Given the description of an element on the screen output the (x, y) to click on. 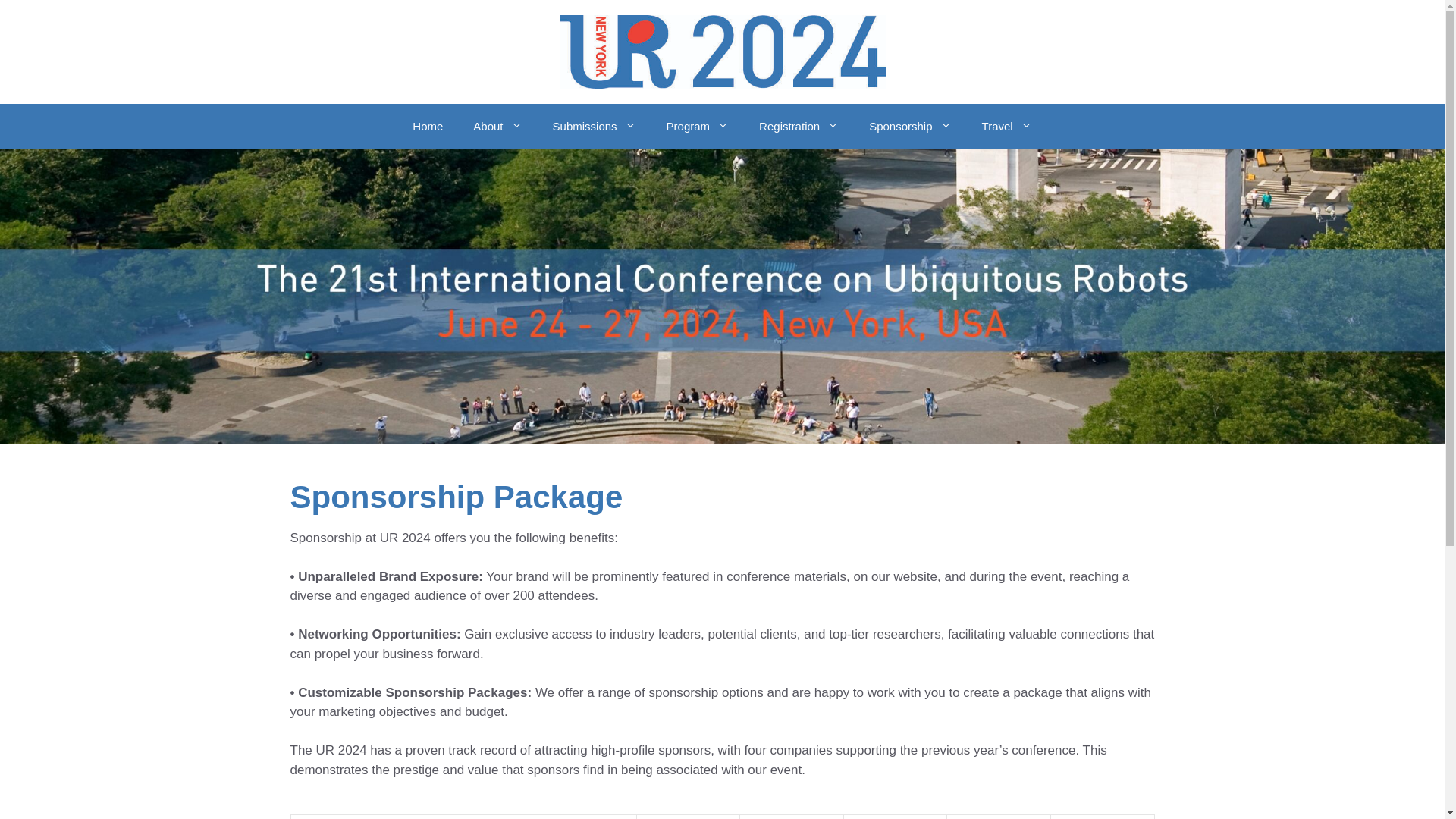
Submissions (593, 126)
Sponsorship (909, 126)
Registration (798, 126)
Program (697, 126)
Home (427, 126)
About (497, 126)
Travel (1006, 126)
